Given the description of an element on the screen output the (x, y) to click on. 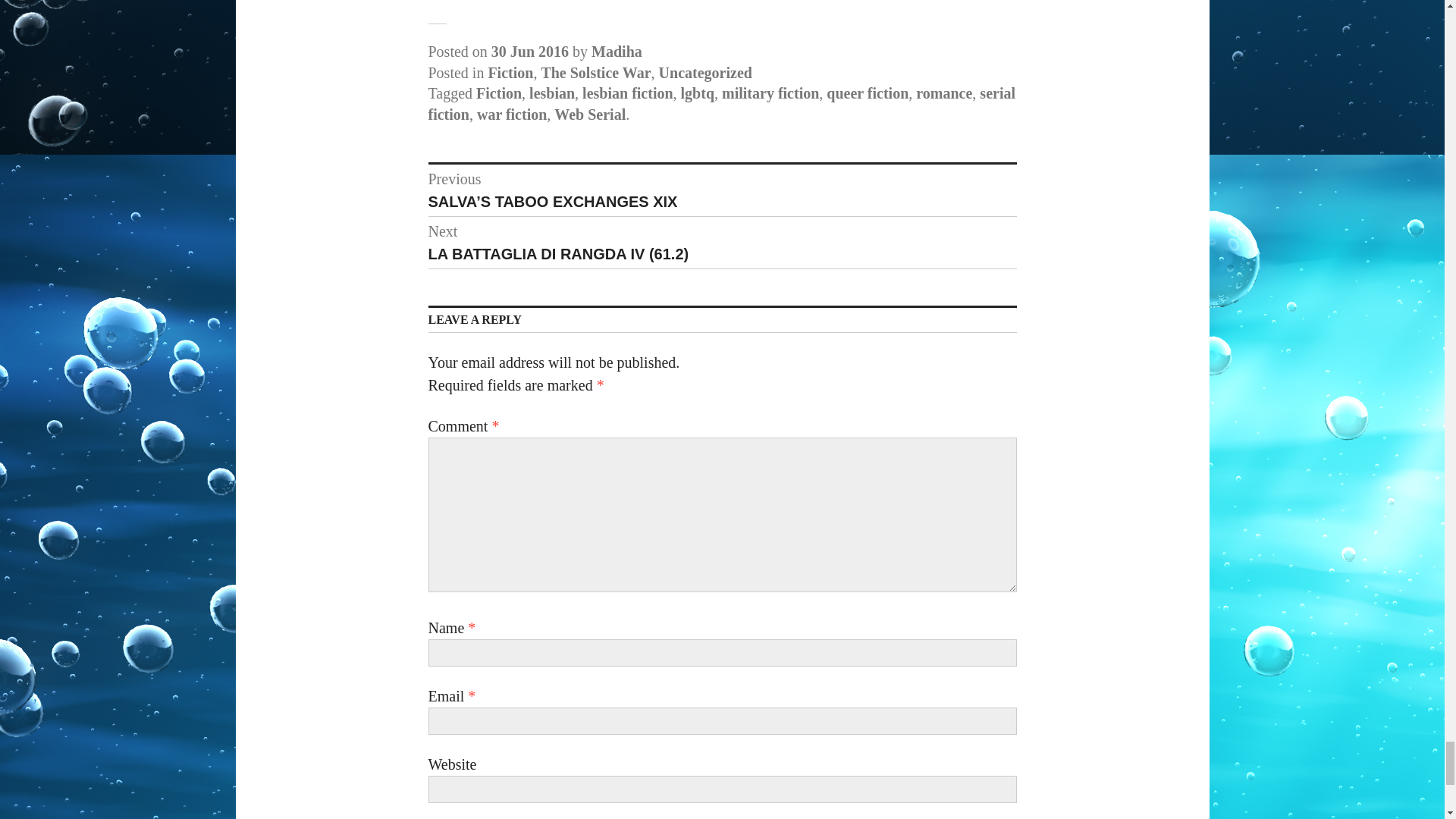
lgbtq (697, 93)
Web Serial (590, 114)
military fiction (770, 93)
lesbian (552, 93)
war fiction (512, 114)
Madiha (616, 51)
serial fiction (721, 103)
Read The Next Part (806, 2)
30 Jun 2016 (530, 51)
romance (943, 93)
